Given the description of an element on the screen output the (x, y) to click on. 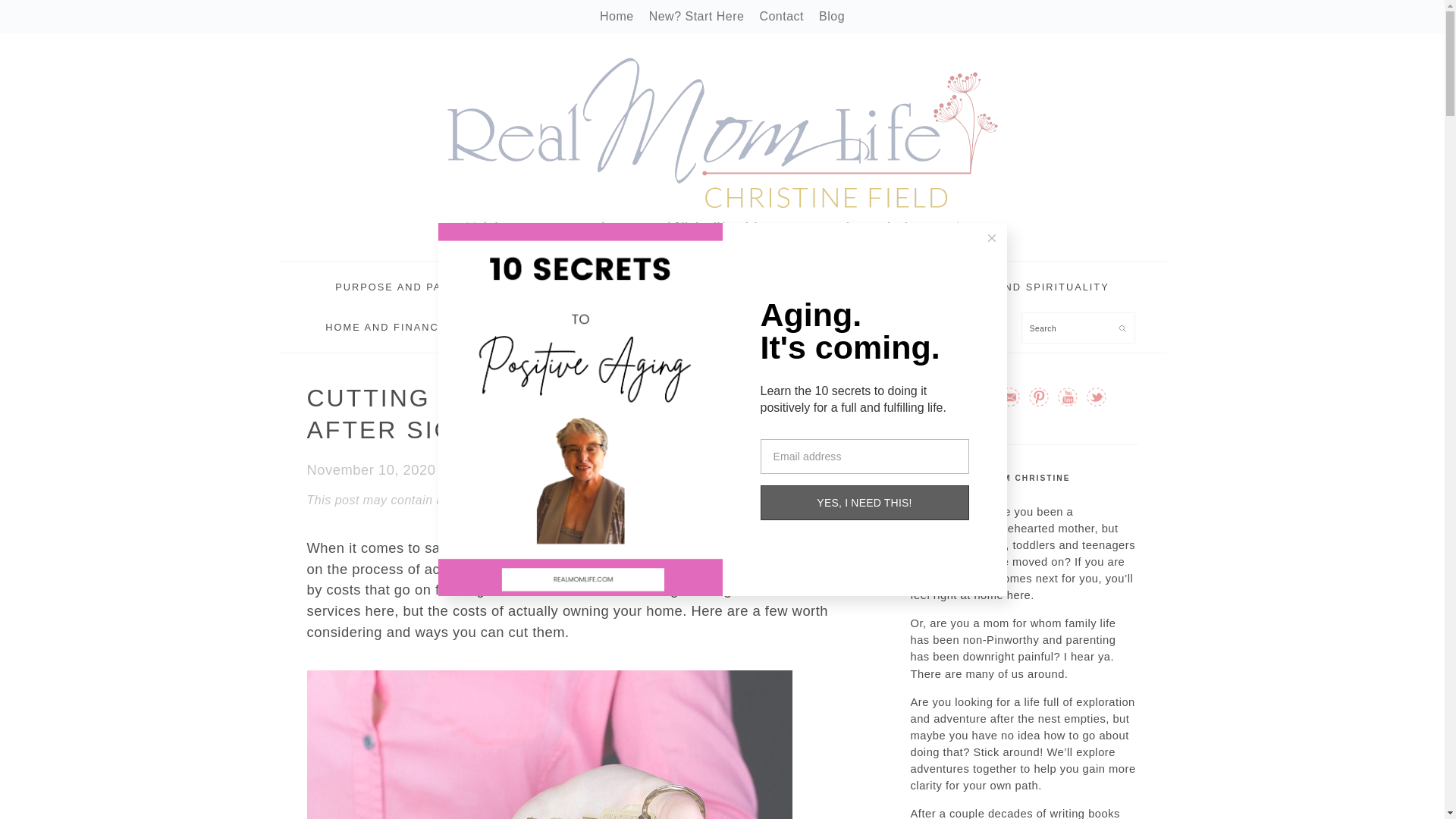
Blog (831, 15)
ADVENTURE (552, 286)
Real Mom Life (721, 147)
Contact (780, 15)
RELATIONSHIPS (672, 286)
PURPOSE AND PASSION (406, 286)
New? Start Here (696, 15)
Home (616, 15)
